Given the description of an element on the screen output the (x, y) to click on. 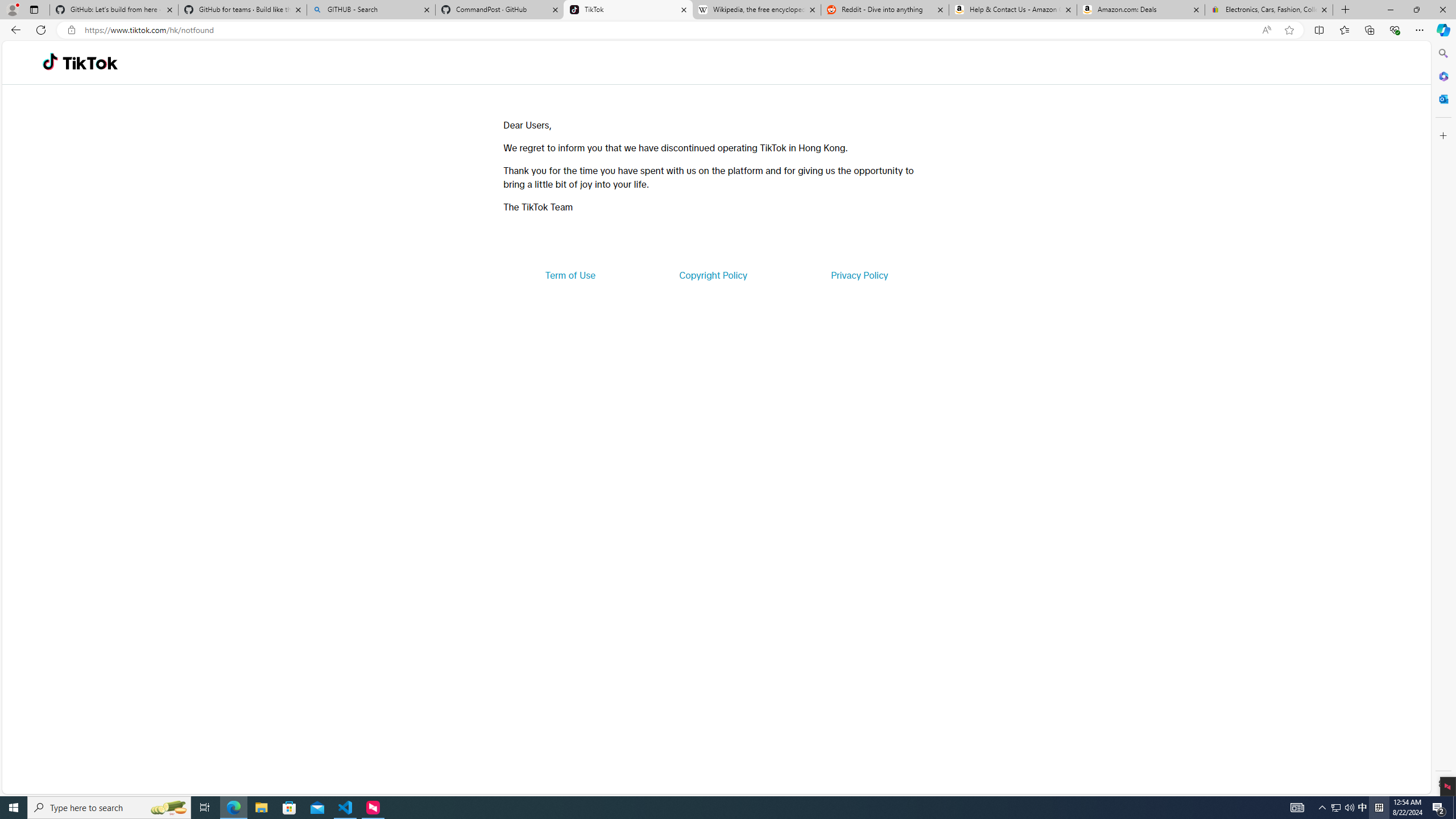
TikTok (89, 62)
Privacy Policy (858, 274)
GITHUB - Search (370, 9)
